Given the description of an element on the screen output the (x, y) to click on. 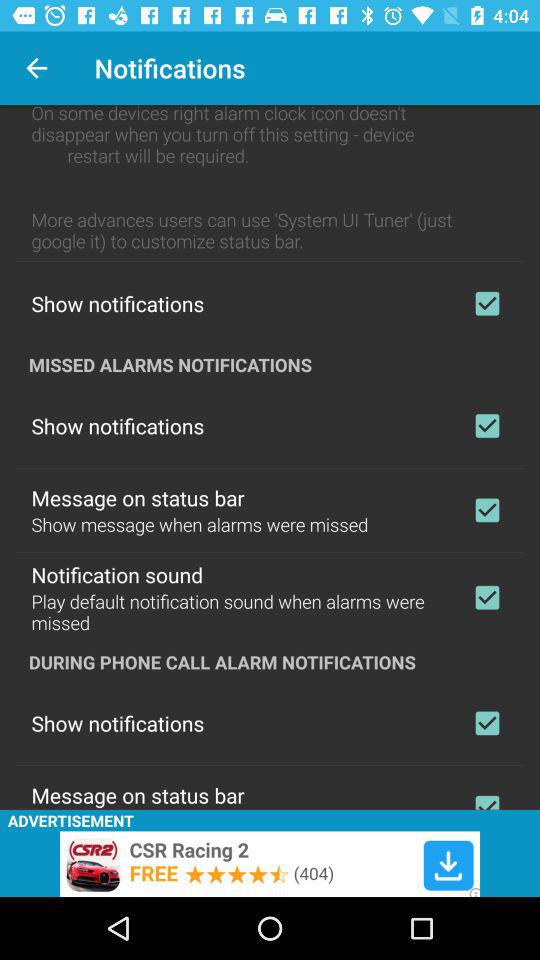
uncheck selected item (487, 597)
